Given the description of an element on the screen output the (x, y) to click on. 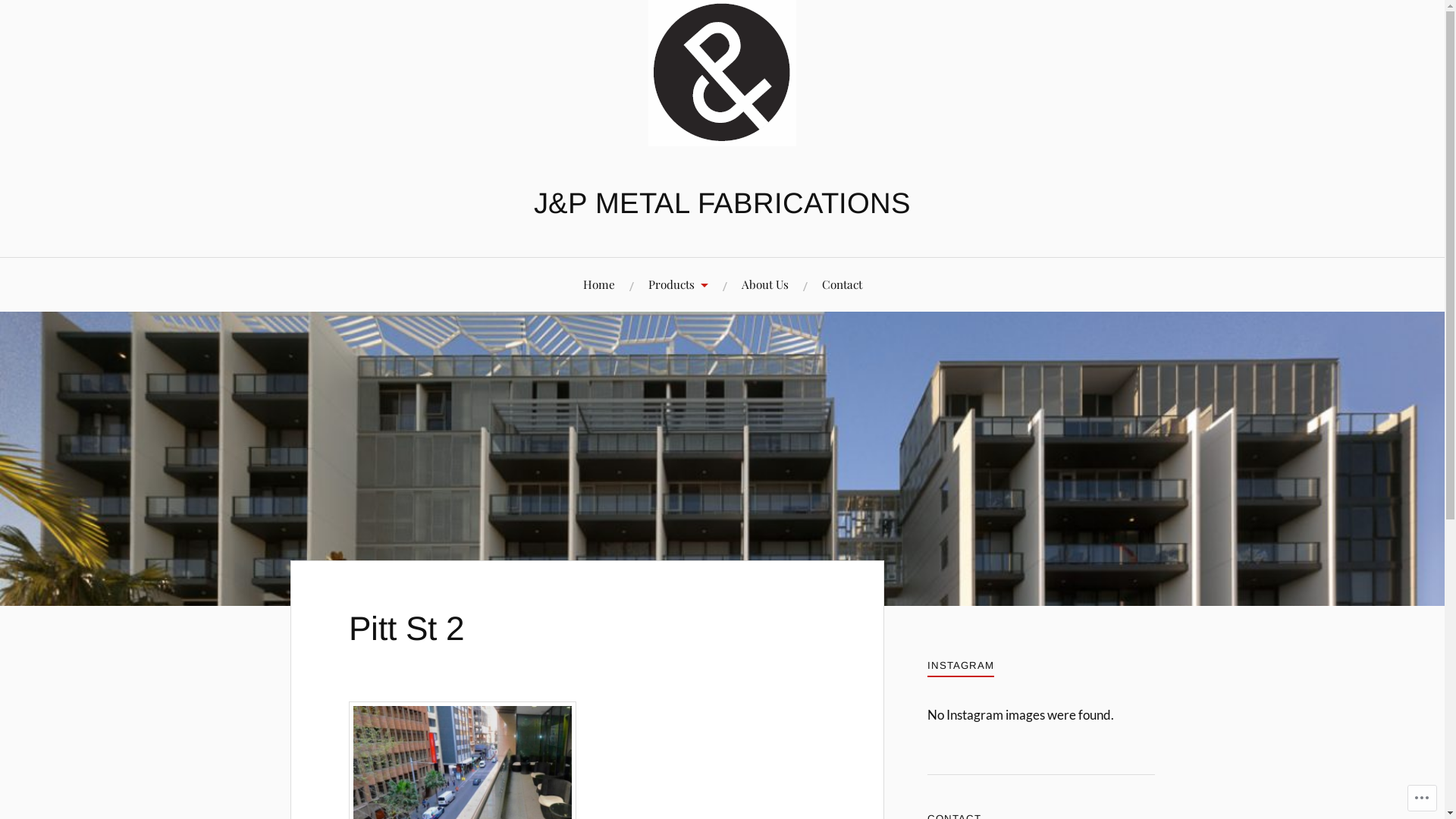
About Us Element type: text (764, 284)
Home Element type: text (598, 284)
J&P METAL FABRICATIONS Element type: text (721, 202)
Contact Element type: text (842, 284)
Products Element type: text (677, 284)
